Given the description of an element on the screen output the (x, y) to click on. 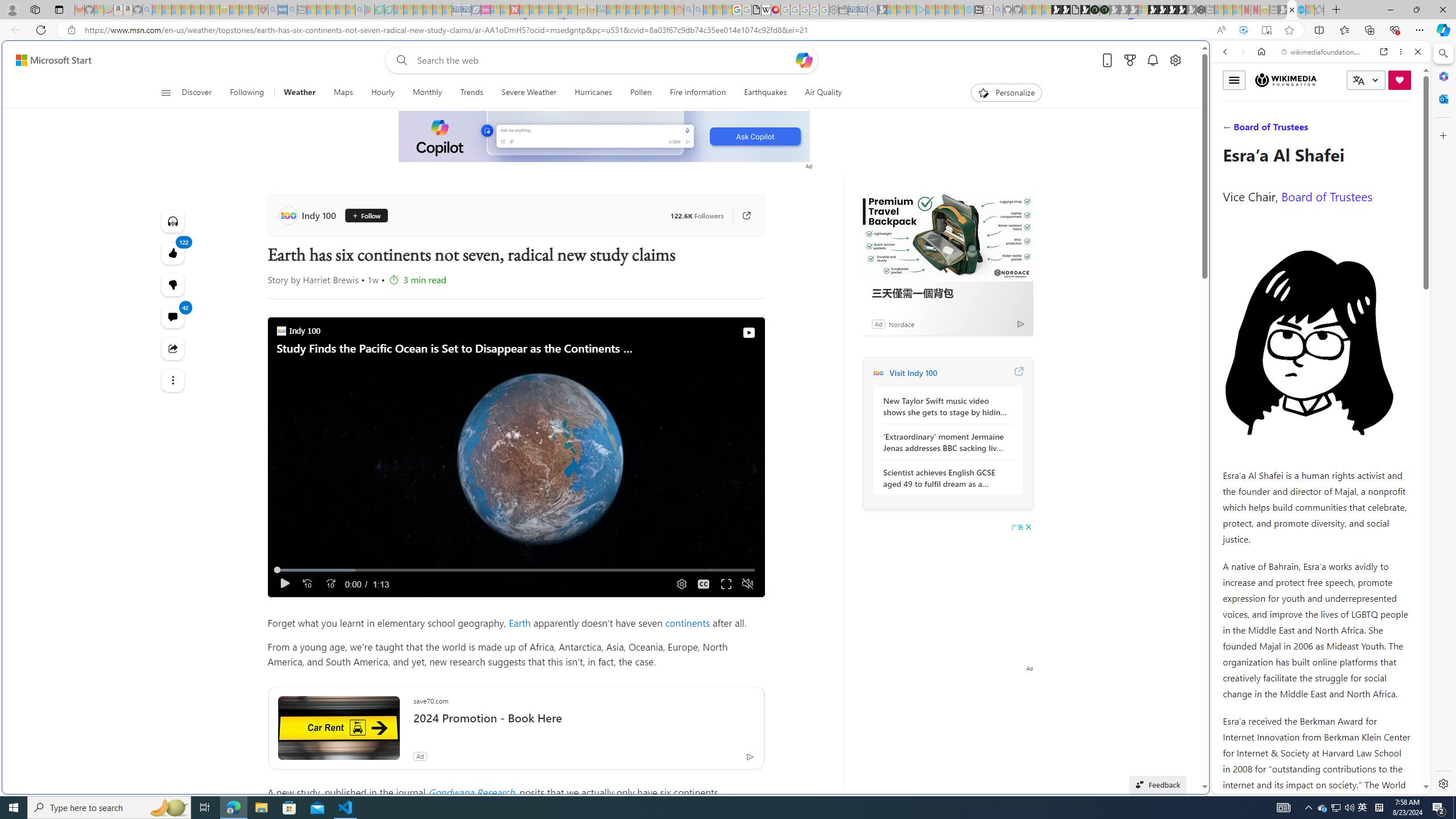
Listen to this article (172, 220)
google_privacy_policy_zh-CN.pdf (1118, 683)
Hourly (382, 92)
